Given the description of an element on the screen output the (x, y) to click on. 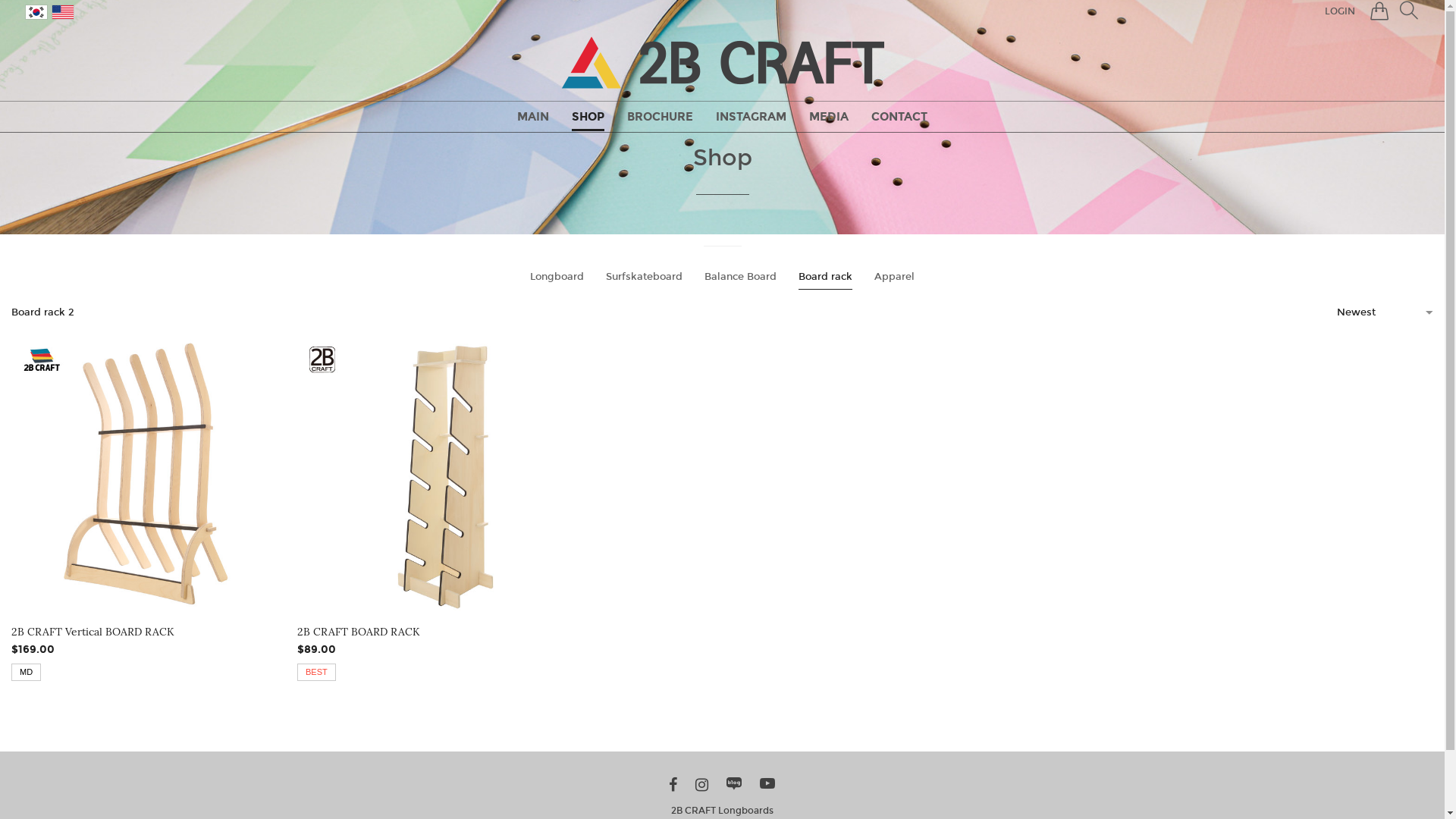
site search Element type: text (1408, 11)
Apparel Element type: text (894, 278)
Balance Board Element type: text (740, 278)
Change language Element type: text (35, 12)
MEDIA Element type: text (828, 116)
Longboard Element type: text (556, 278)
Board rack Element type: text (825, 279)
2B CRAFT Vertical BOARD RACK Element type: text (150, 632)
INSTAGRAM Element type: text (750, 116)
SHOP Element type: text (587, 116)
MAIN Element type: text (532, 116)
Sign-in widget text Element type: text (1379, 11)
BROCHURE Element type: text (659, 116)
Change language Element type: text (62, 12)
2B CRAFT BOARD RACK Element type: text (436, 632)
Surfskateboard Element type: text (643, 278)
LOGIN Element type: text (1339, 11)
CONTACT Element type: text (898, 116)
